Given the description of an element on the screen output the (x, y) to click on. 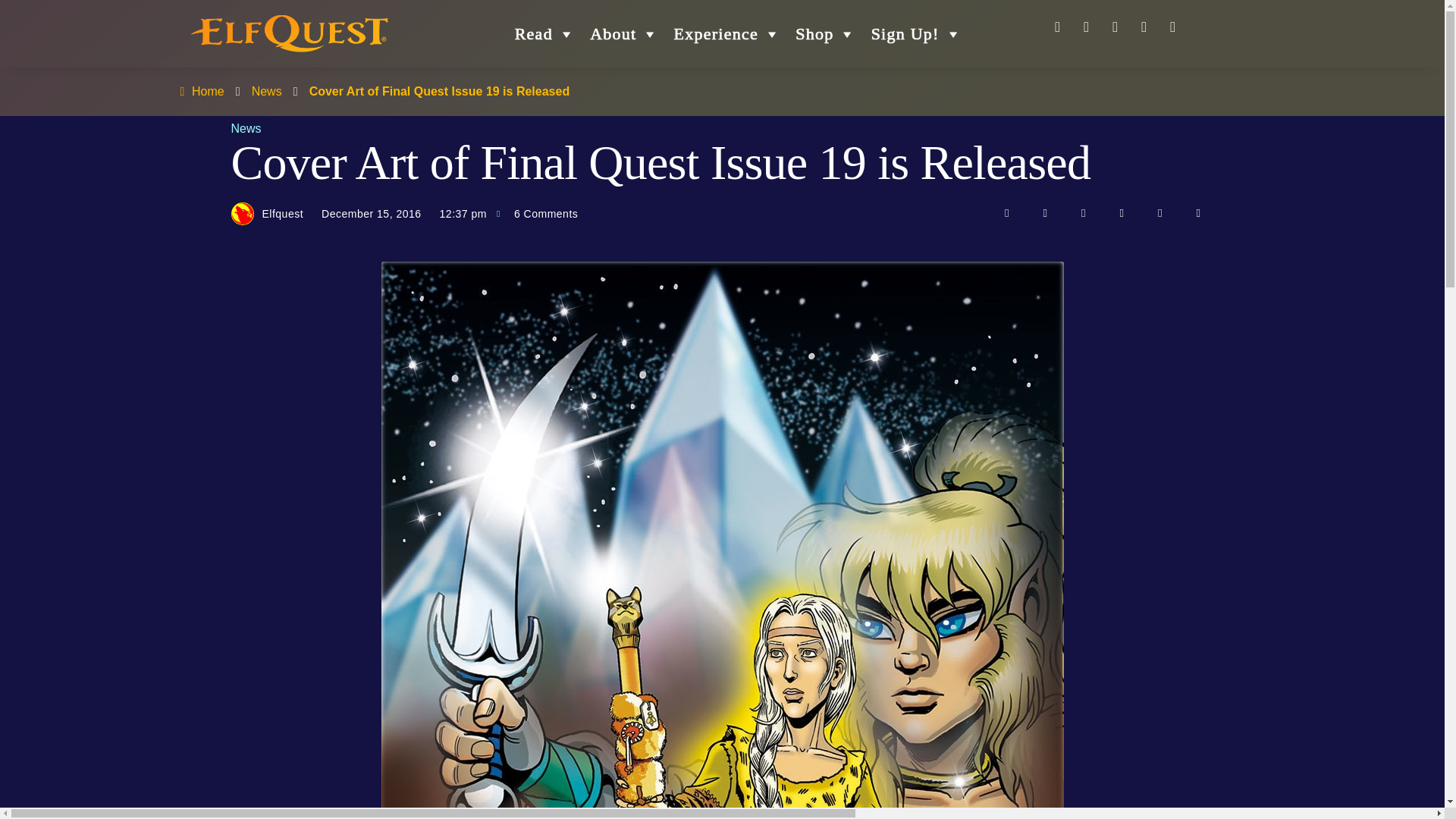
Shop (825, 33)
Cover Art of Final Quest Issue 19 is Released (439, 91)
Experience (727, 33)
Read (544, 33)
Home (200, 91)
Sign Up! (916, 33)
About (623, 33)
